Given the description of an element on the screen output the (x, y) to click on. 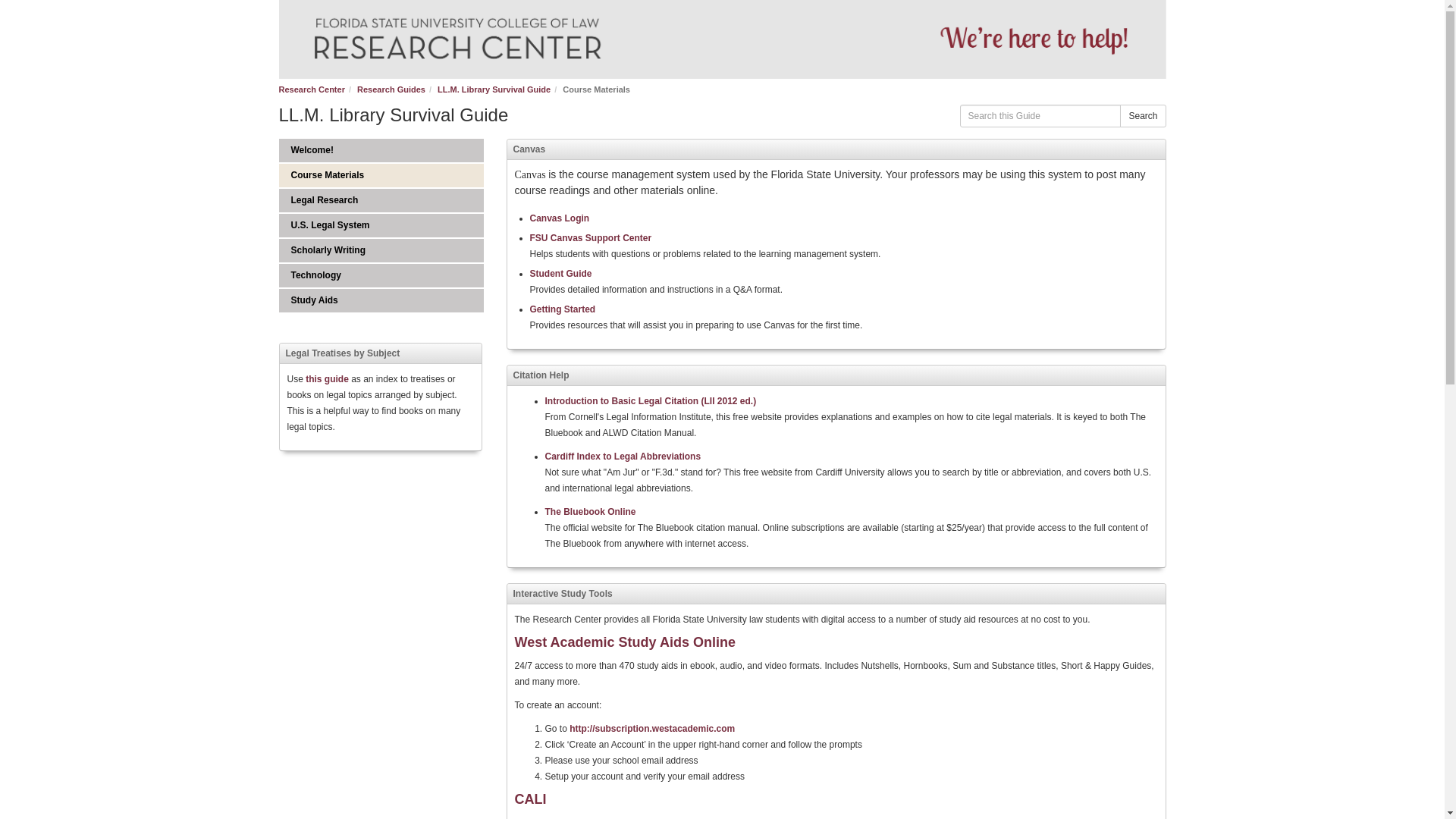
Study Aids (381, 300)
U.S. Legal System (381, 225)
Search (1142, 115)
CALI (529, 798)
Cardiff Index to Legal Abbreviations (622, 456)
FSU Canvas Support Center (589, 237)
Welcome! (381, 275)
Student Guide (381, 150)
Research Guides (560, 273)
Getting Started (390, 89)
Canvas Login (562, 308)
this guide (559, 217)
Legal Research (325, 378)
The Bluebook Online (381, 200)
